Given the description of an element on the screen output the (x, y) to click on. 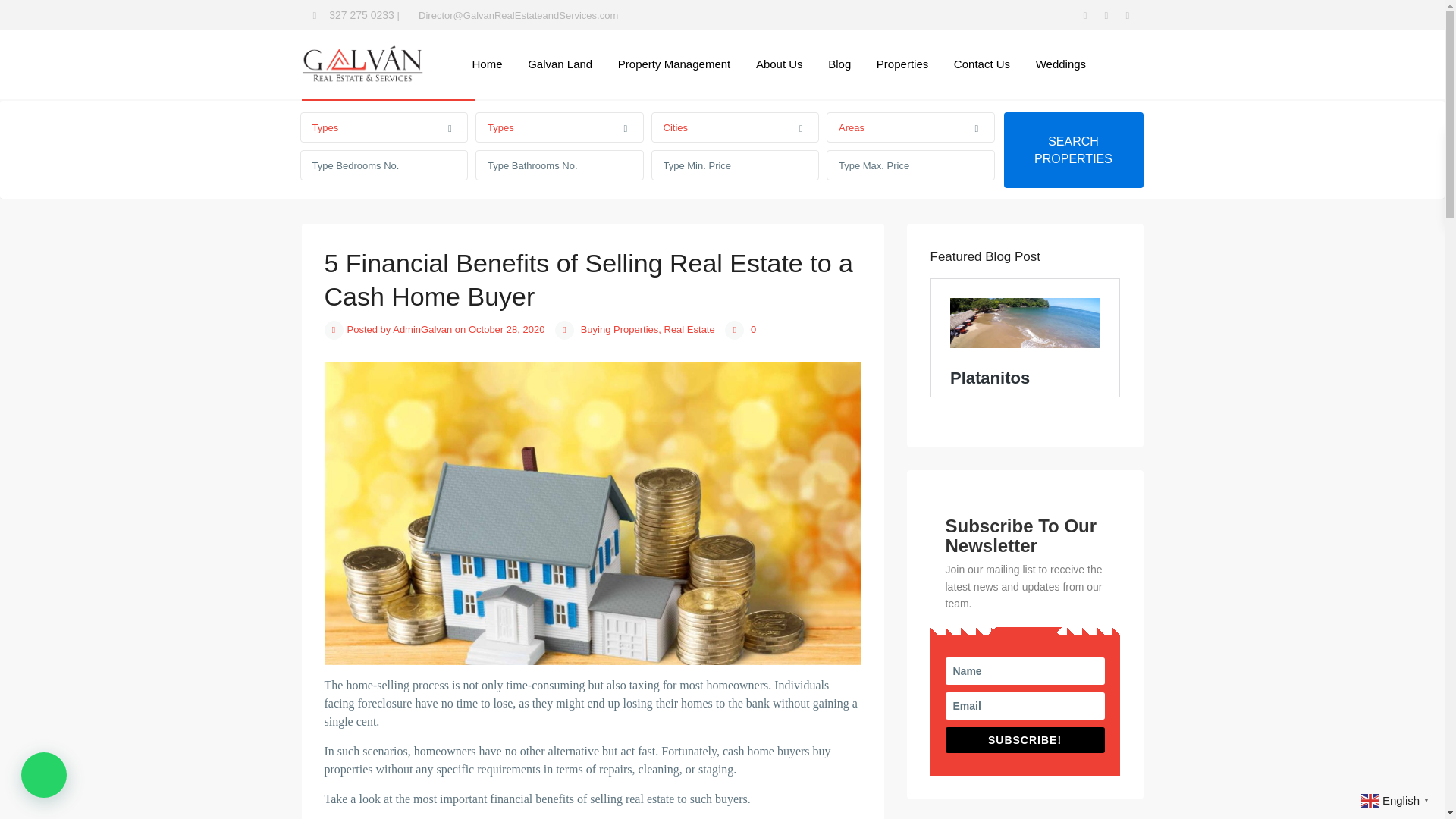
Properties (901, 64)
SEARCH PROPERTIES (1073, 150)
About Us (778, 64)
Galvan Land (560, 64)
Property Management (674, 64)
327 275 0233 (361, 14)
